Given the description of an element on the screen output the (x, y) to click on. 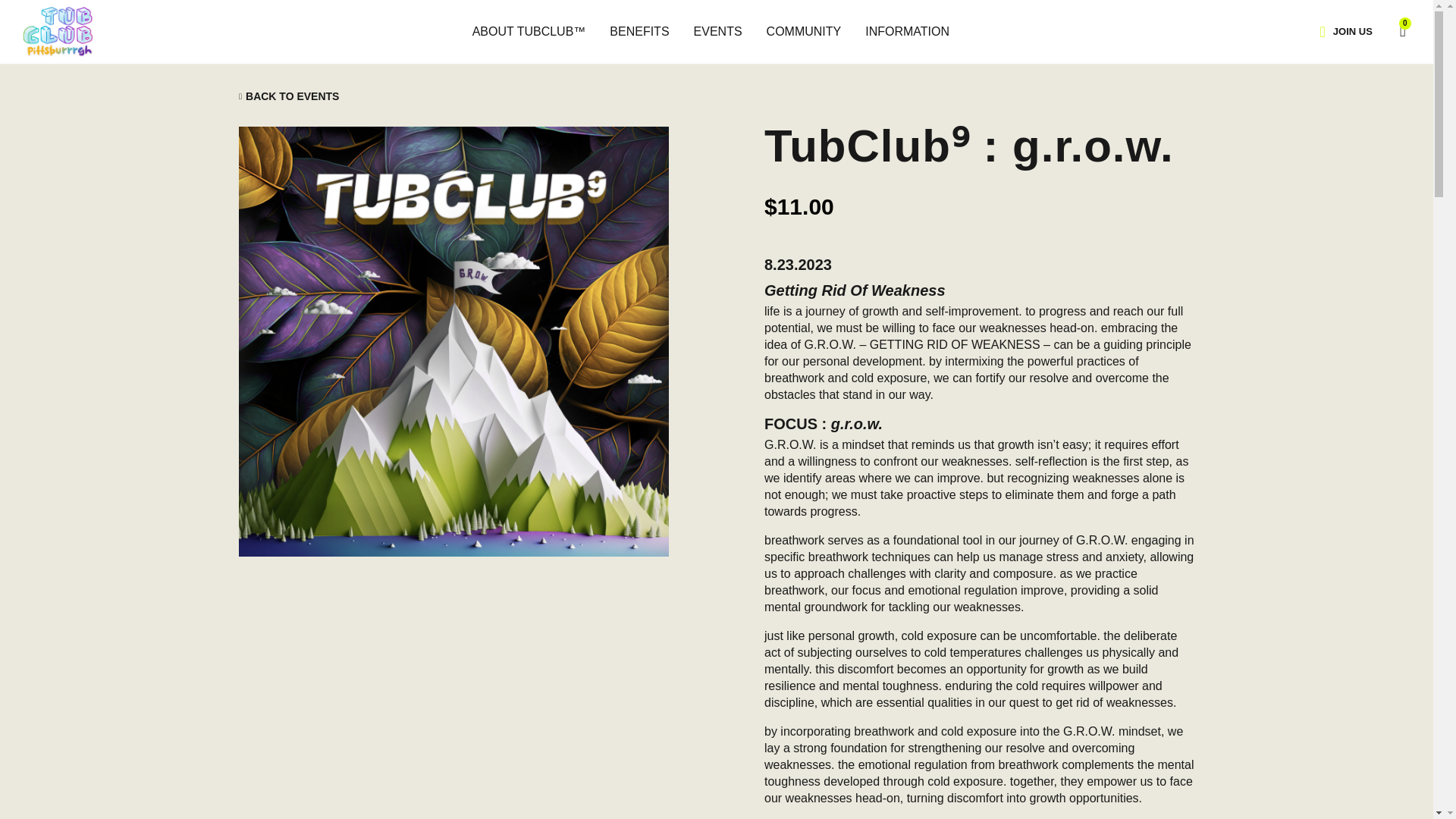
JOIN US (1352, 31)
0 (1396, 30)
